Given the description of an element on the screen output the (x, y) to click on. 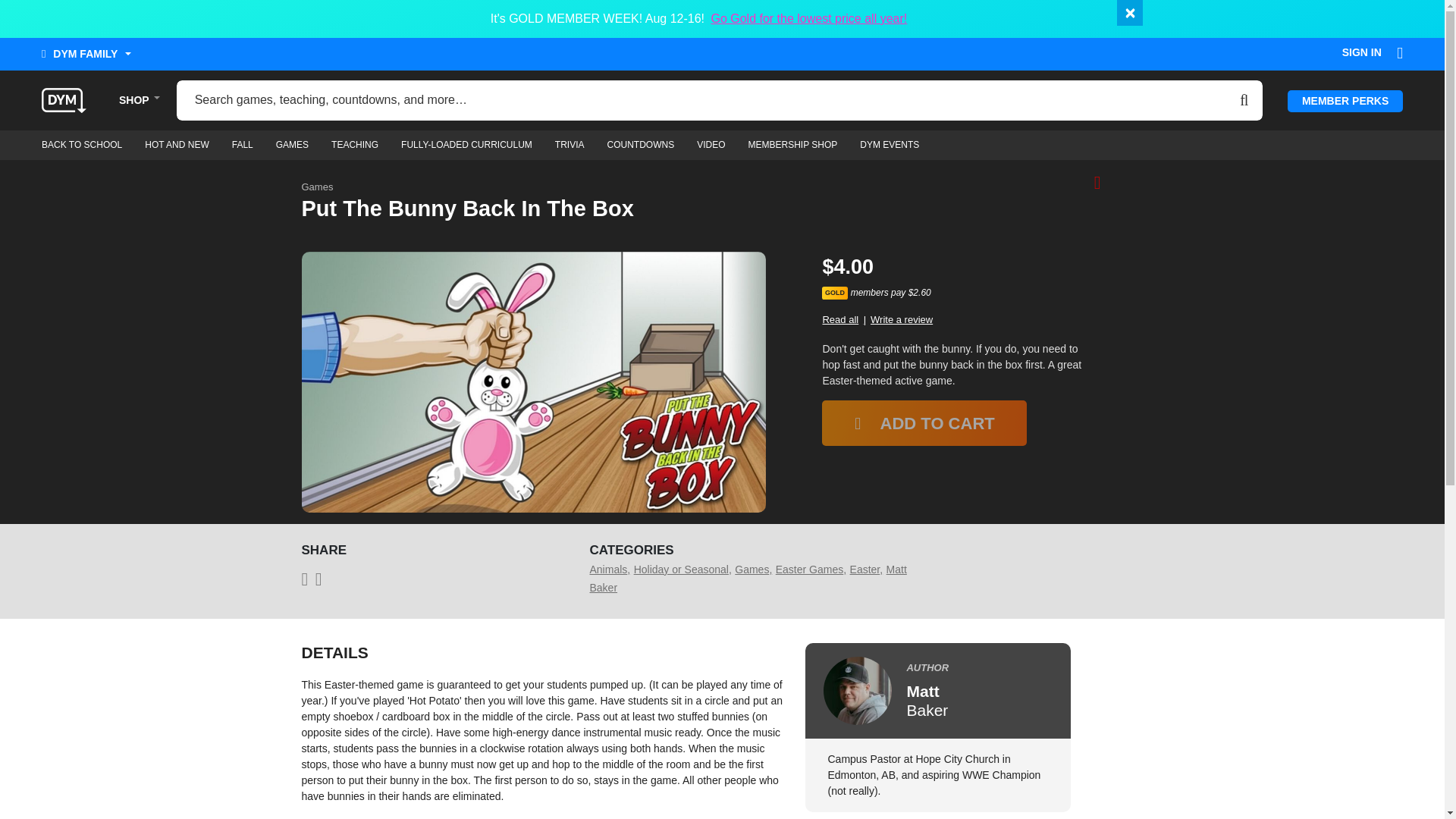
SIGN IN (1361, 55)
DYM FAMILY (86, 57)
SHOP (134, 100)
Commerce Cloud Storefront Reference Architecture Home (63, 99)
